Given the description of an element on the screen output the (x, y) to click on. 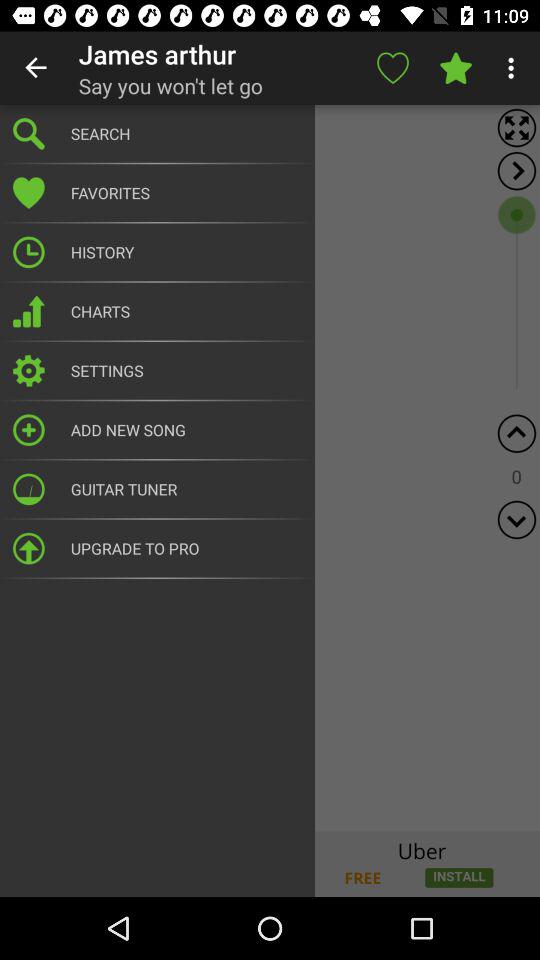
install uber (270, 864)
